Given the description of an element on the screen output the (x, y) to click on. 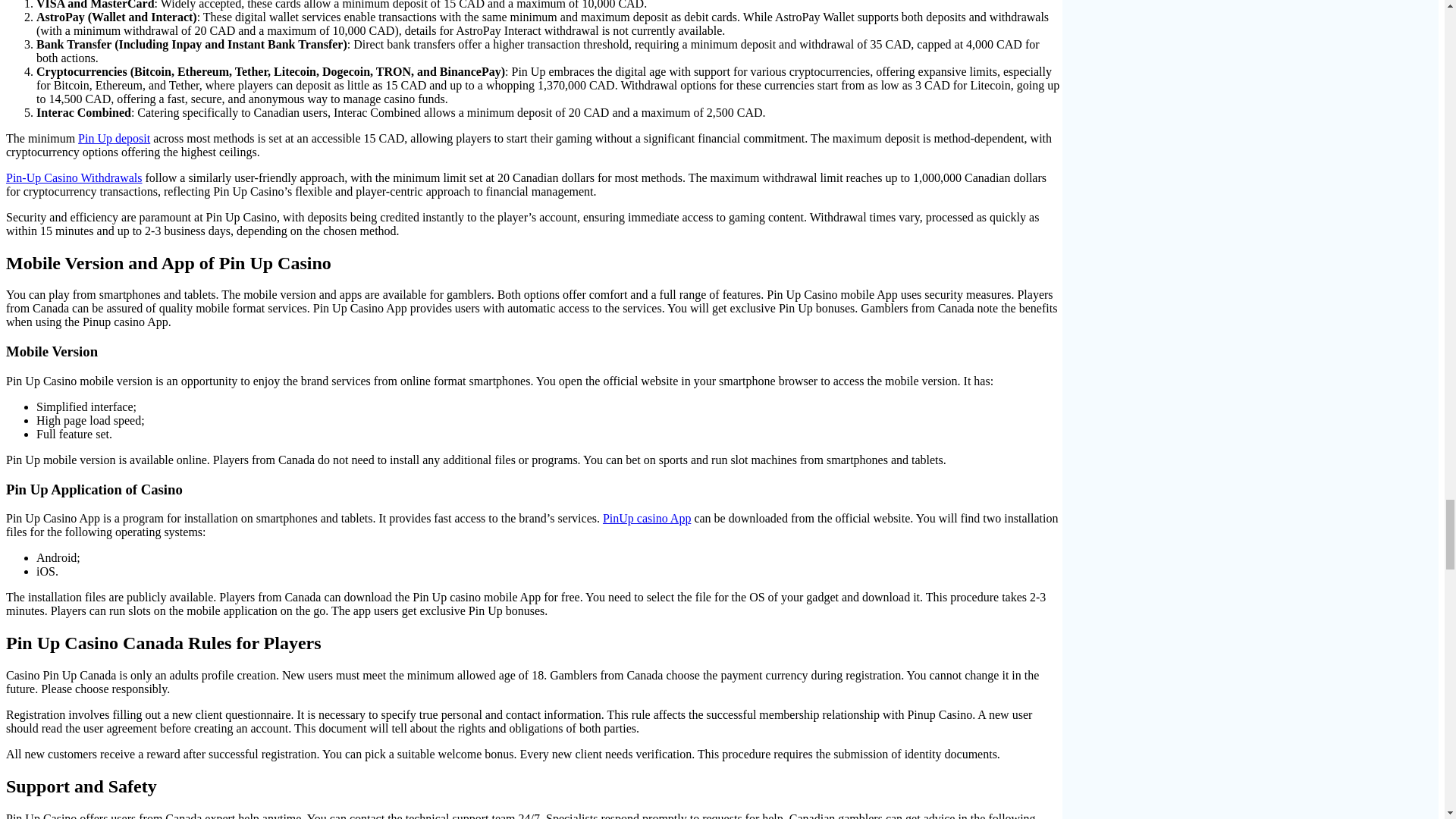
Pin Up deposit (113, 137)
PinUp casino App (646, 517)
Pin-Up Casino Withdrawals (73, 177)
